Given the description of an element on the screen output the (x, y) to click on. 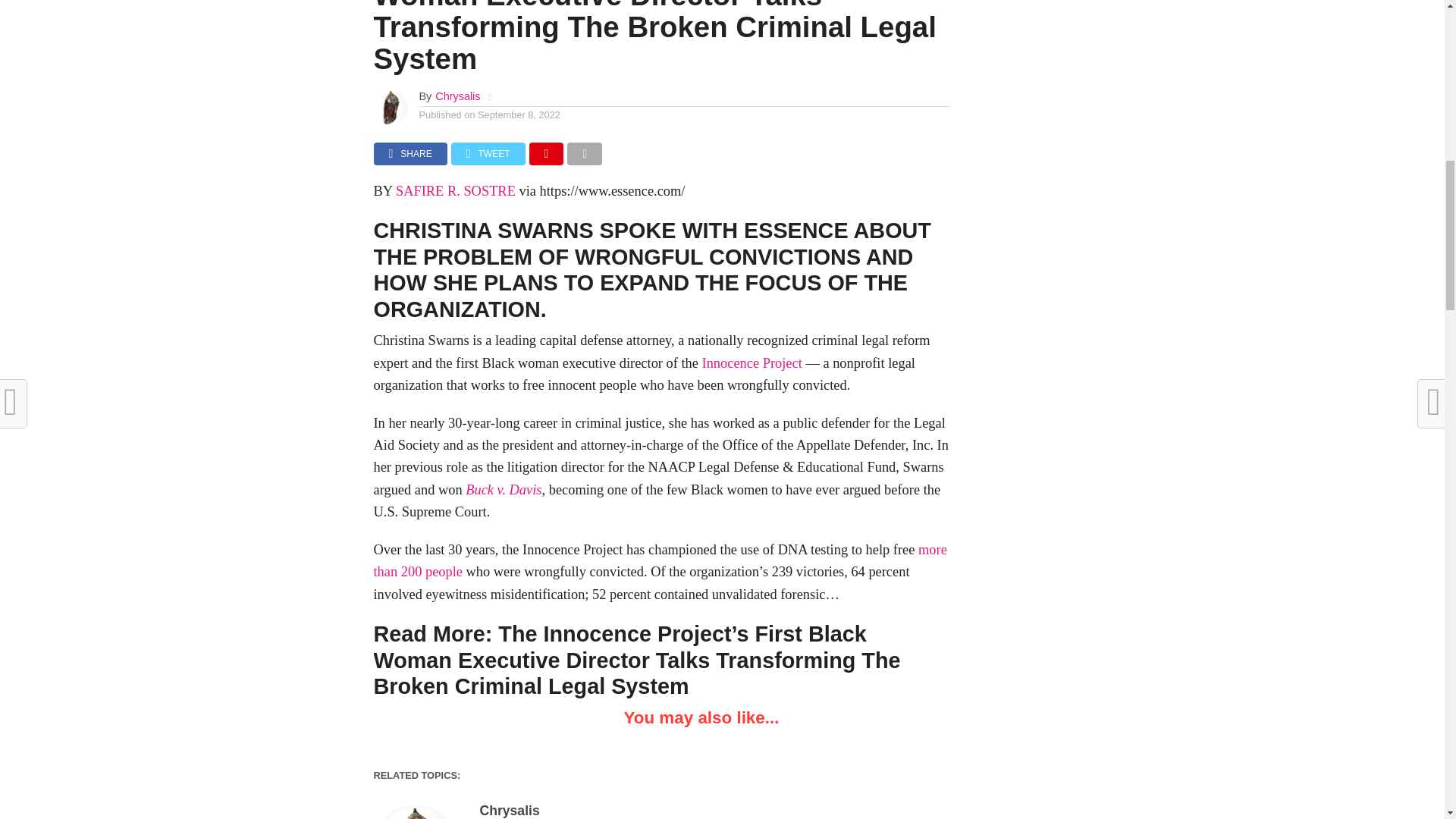
Buck v. Davis (503, 489)
Innocence Project (751, 363)
Chrysalis (457, 96)
Chrysalis (508, 810)
more than 200 people (659, 560)
Posts by Chrysalis (457, 96)
Posts by Chrysalis (508, 810)
SAFIRE R. SOSTRE (455, 191)
